Given the description of an element on the screen output the (x, y) to click on. 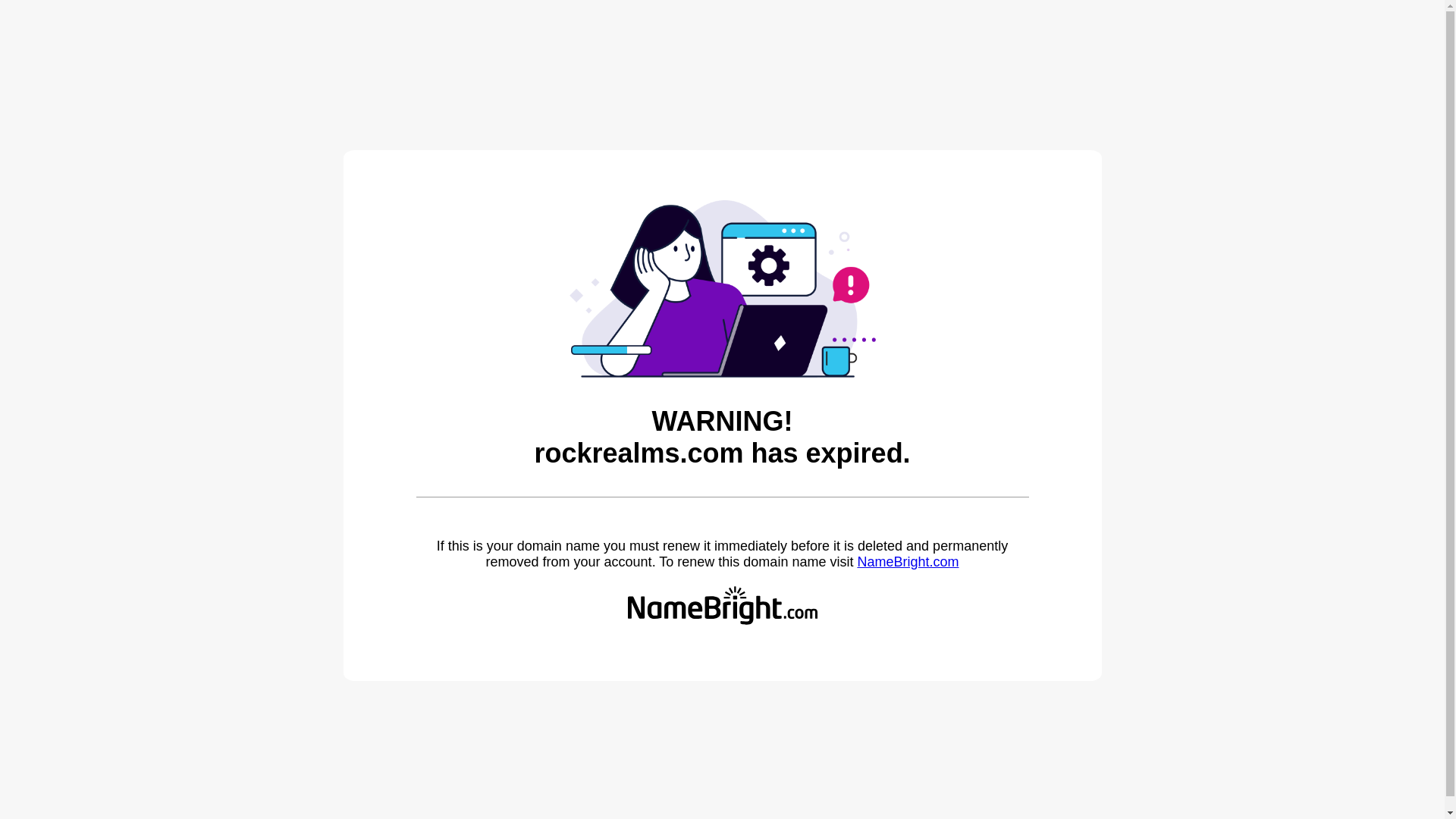
NameBright.com (907, 561)
